Given the description of an element on the screen output the (x, y) to click on. 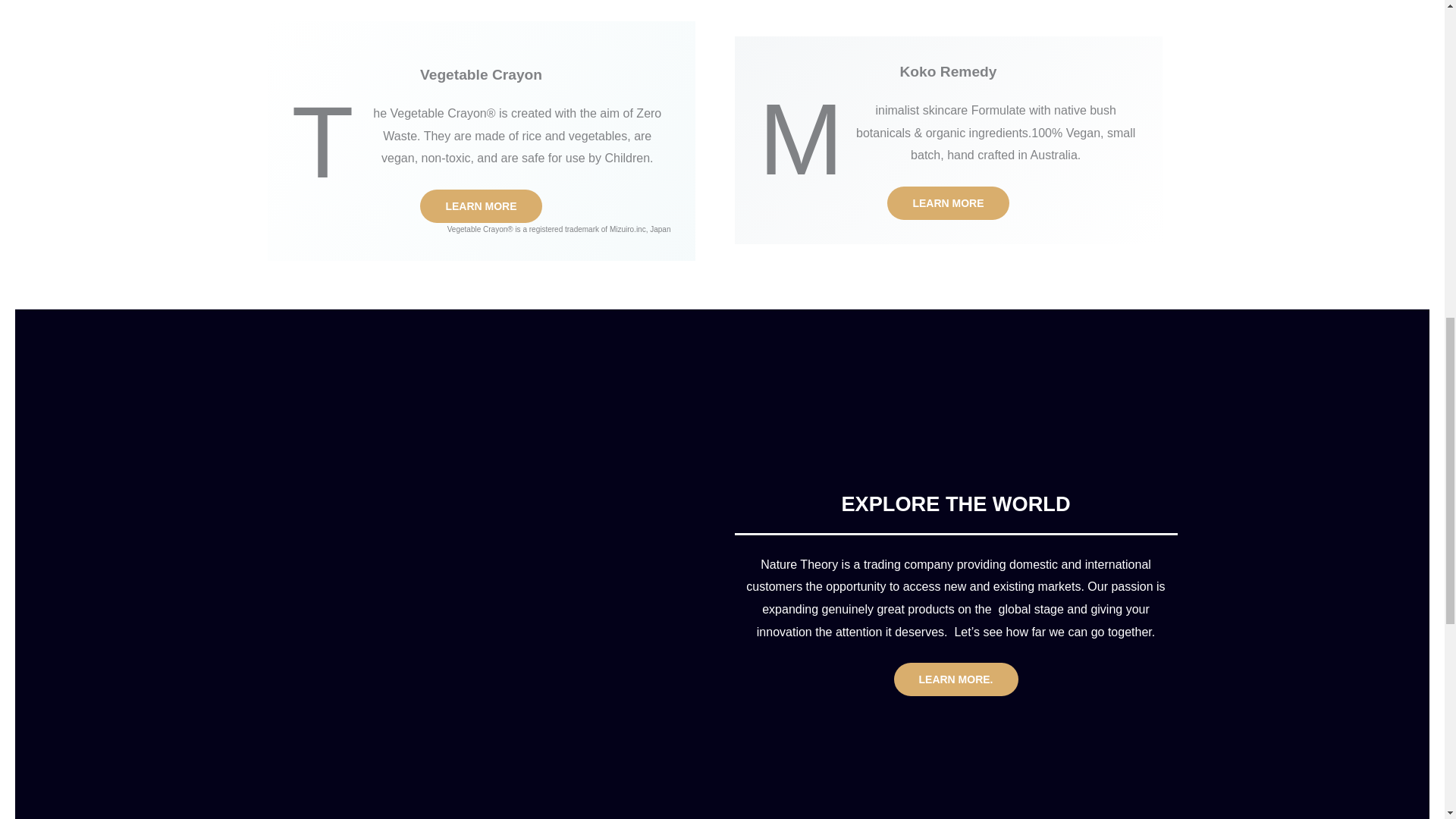
LEARN MORE (480, 205)
LEARN MORE (947, 203)
LEARN MORE. (955, 679)
